Given the description of an element on the screen output the (x, y) to click on. 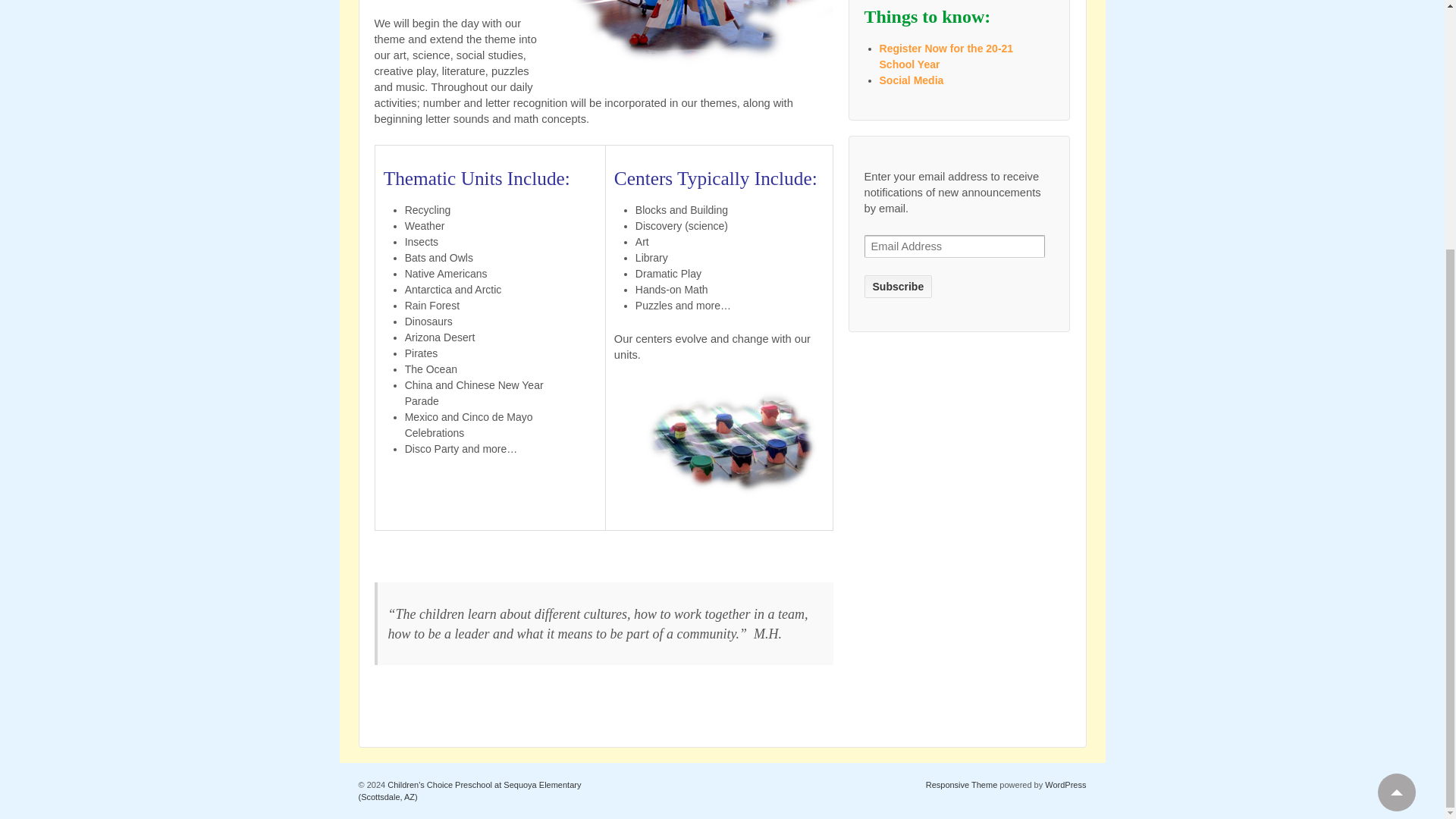
WordPress (1065, 784)
Scroll to Top (1396, 443)
Responsive Theme (961, 784)
Subscribe (898, 286)
Social Media (911, 80)
Register Now for the 20-21 School Year (946, 56)
